Given the description of an element on the screen output the (x, y) to click on. 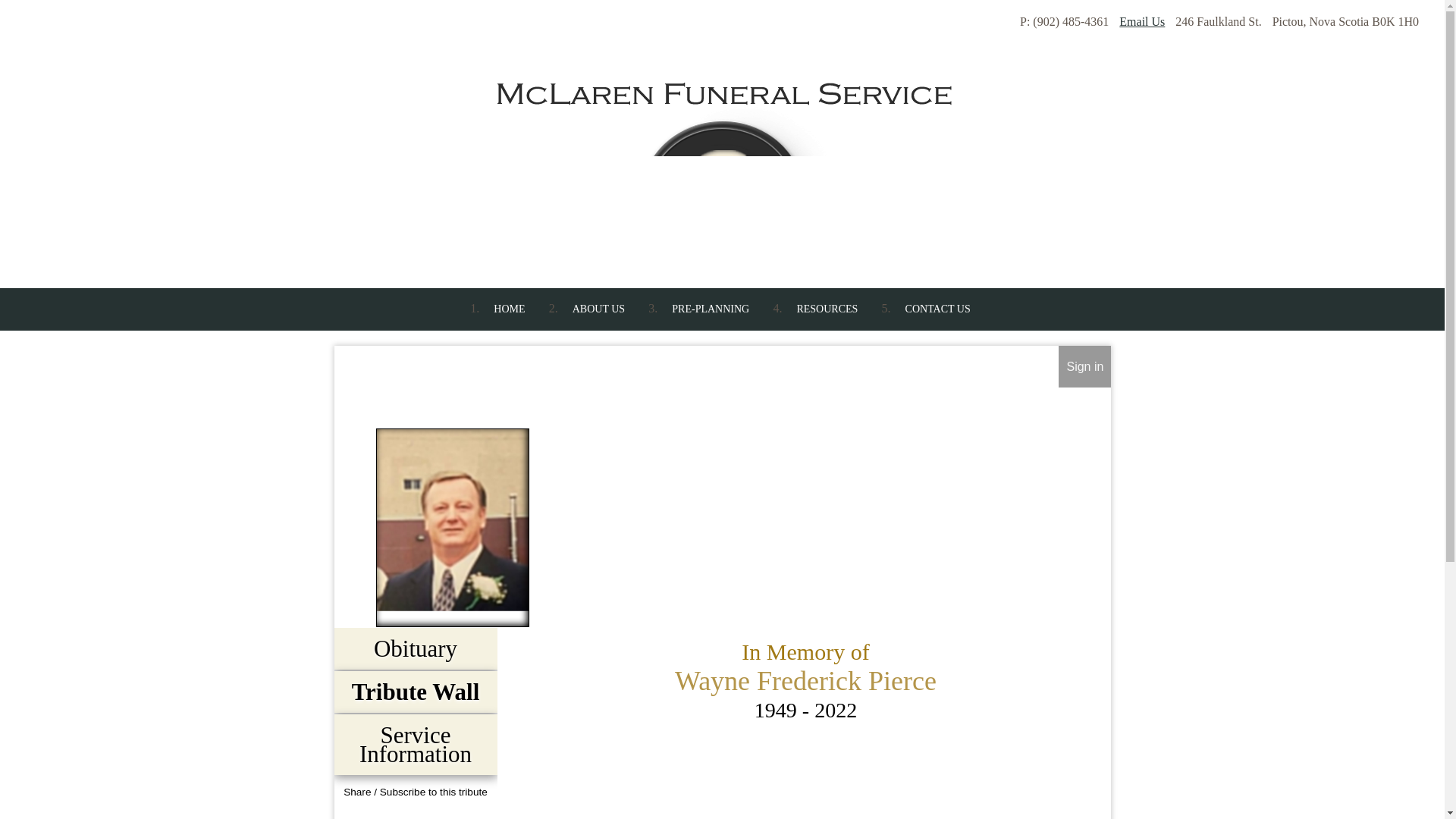
Facebook (387, 814)
HOME (508, 309)
Email Us (1141, 21)
Sign in (1084, 366)
Tribute Wall (414, 691)
PRE-PLANNING (710, 309)
Twitter (415, 814)
Obituary (414, 648)
ABOUT US (598, 309)
Receive Notifications (442, 814)
RESOURCES (826, 309)
Service Information (414, 744)
CONTACT US (937, 309)
